Given the description of an element on the screen output the (x, y) to click on. 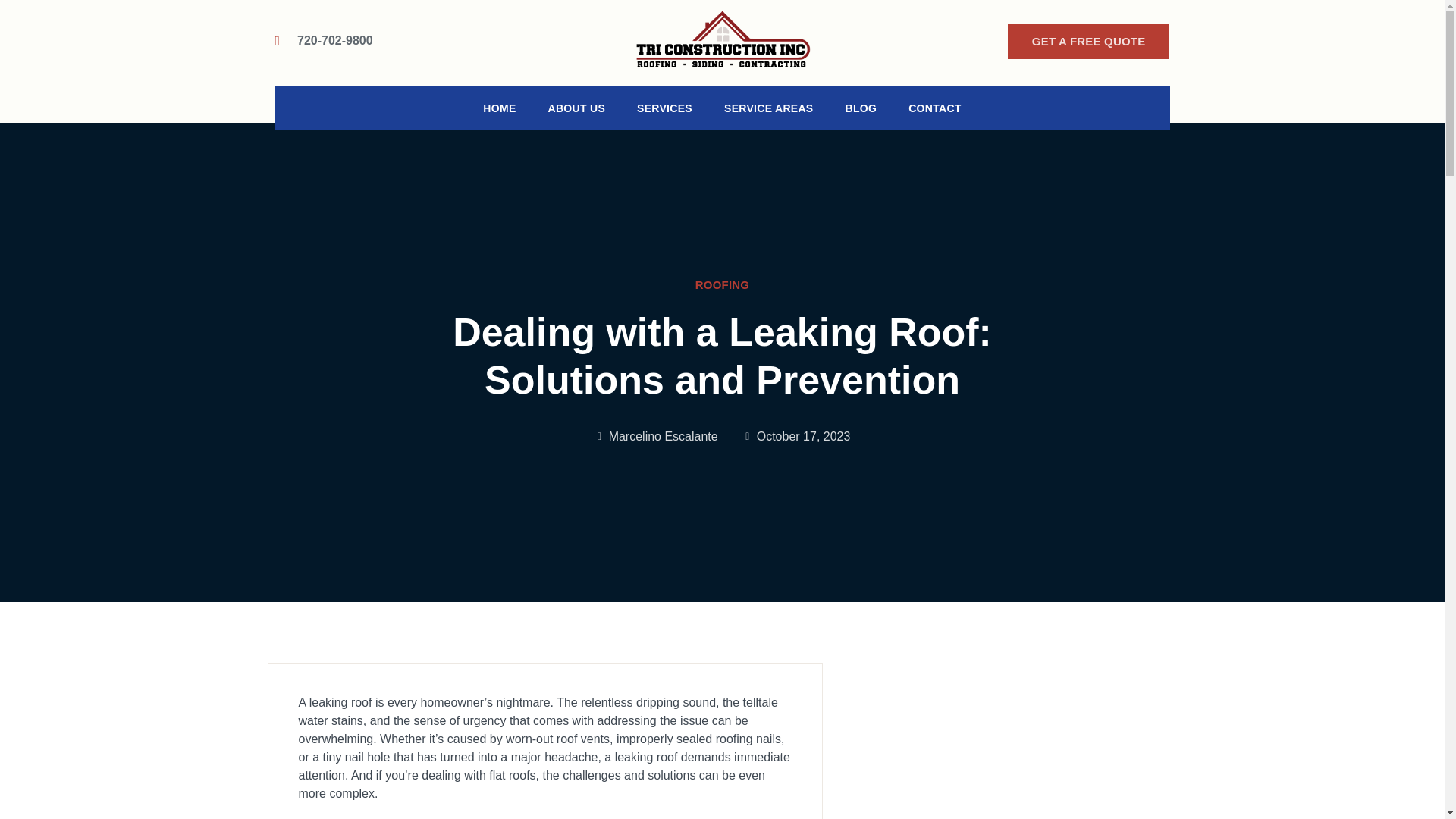
SERVICES (664, 108)
720-702-9800 (323, 41)
BLOG (860, 108)
GET A FREE QUOTE (1088, 40)
SERVICE AREAS (768, 108)
CONTACT (935, 108)
HOME (498, 108)
ABOUT US (576, 108)
